Given the description of an element on the screen output the (x, y) to click on. 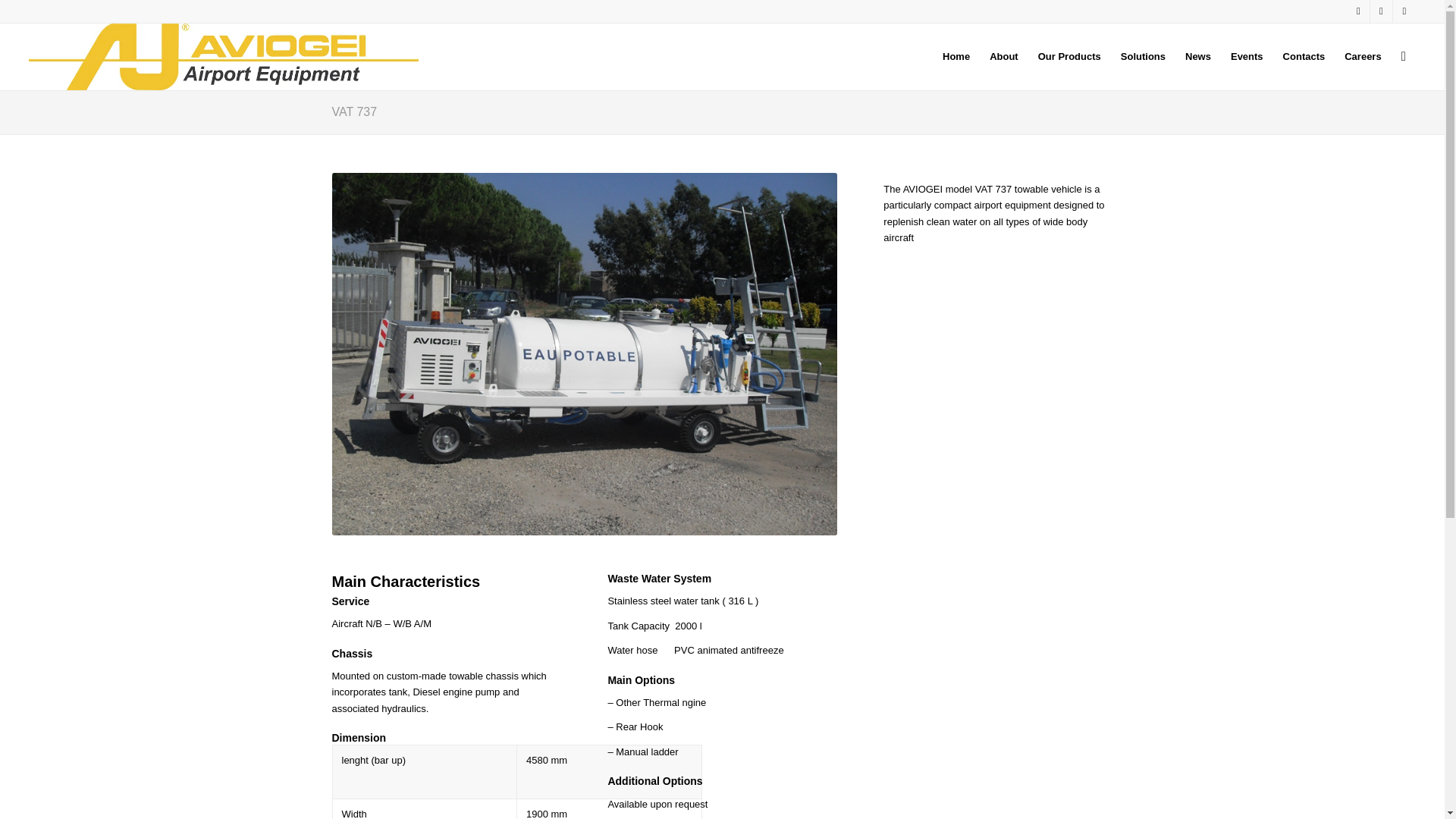
Solutions (1142, 56)
VAT 737 (354, 111)
Our Products (1068, 56)
Youtube (1404, 11)
LinkedIn (1359, 11)
Link Permanente: VAT 737 (354, 111)
Facebook (1380, 11)
Contacts (1303, 56)
